Given the description of an element on the screen output the (x, y) to click on. 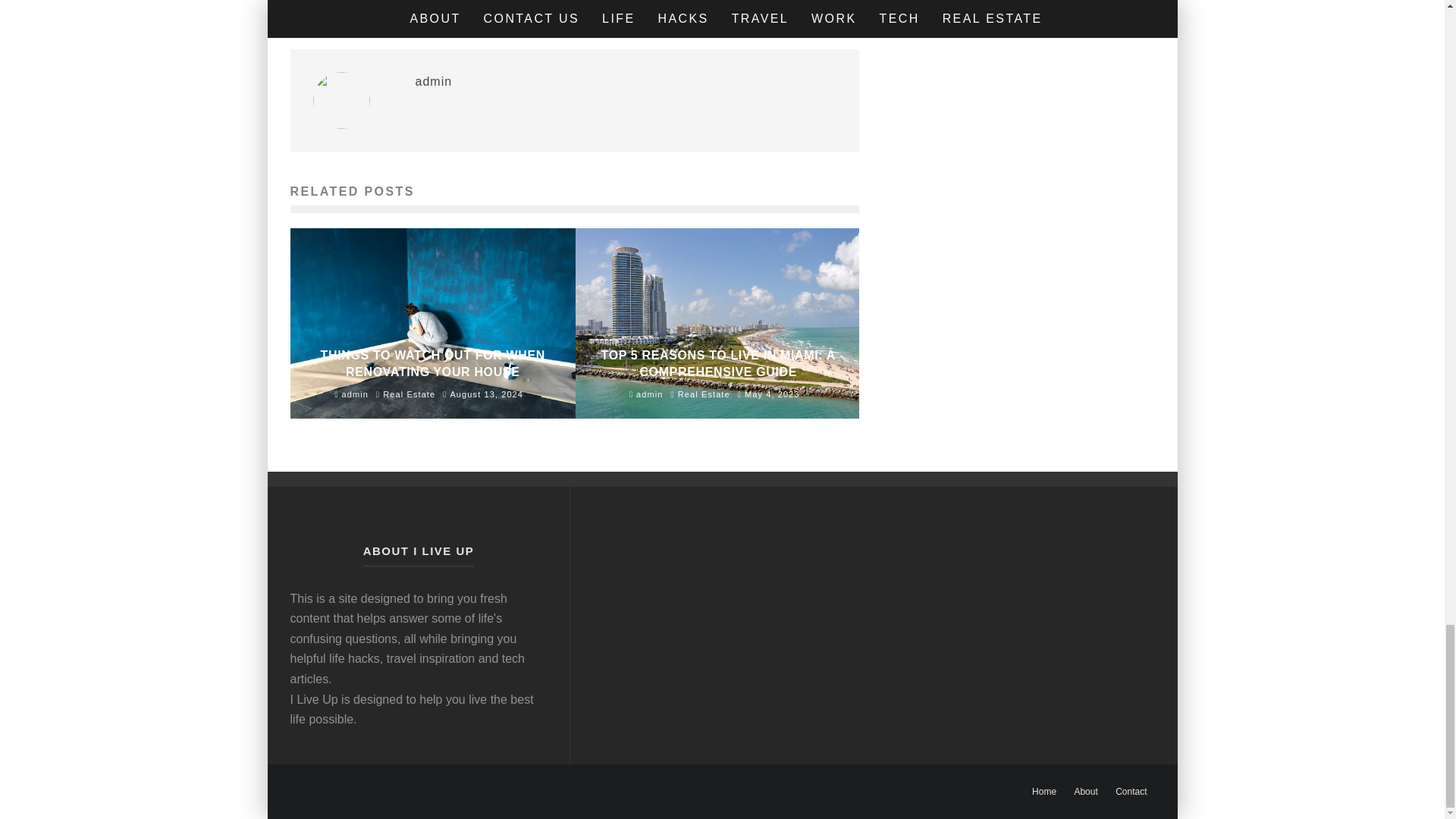
admin (433, 81)
Real Estate (408, 394)
admin (351, 393)
TOP 5 REASONS TO LIVE IN MIAMI: A COMPREHENSIVE GUIDE (718, 363)
admin (645, 393)
THINGS TO WATCH OUT FOR WHEN RENOVATING YOUR HOUSE (432, 363)
Real Estate (704, 394)
